Given the description of an element on the screen output the (x, y) to click on. 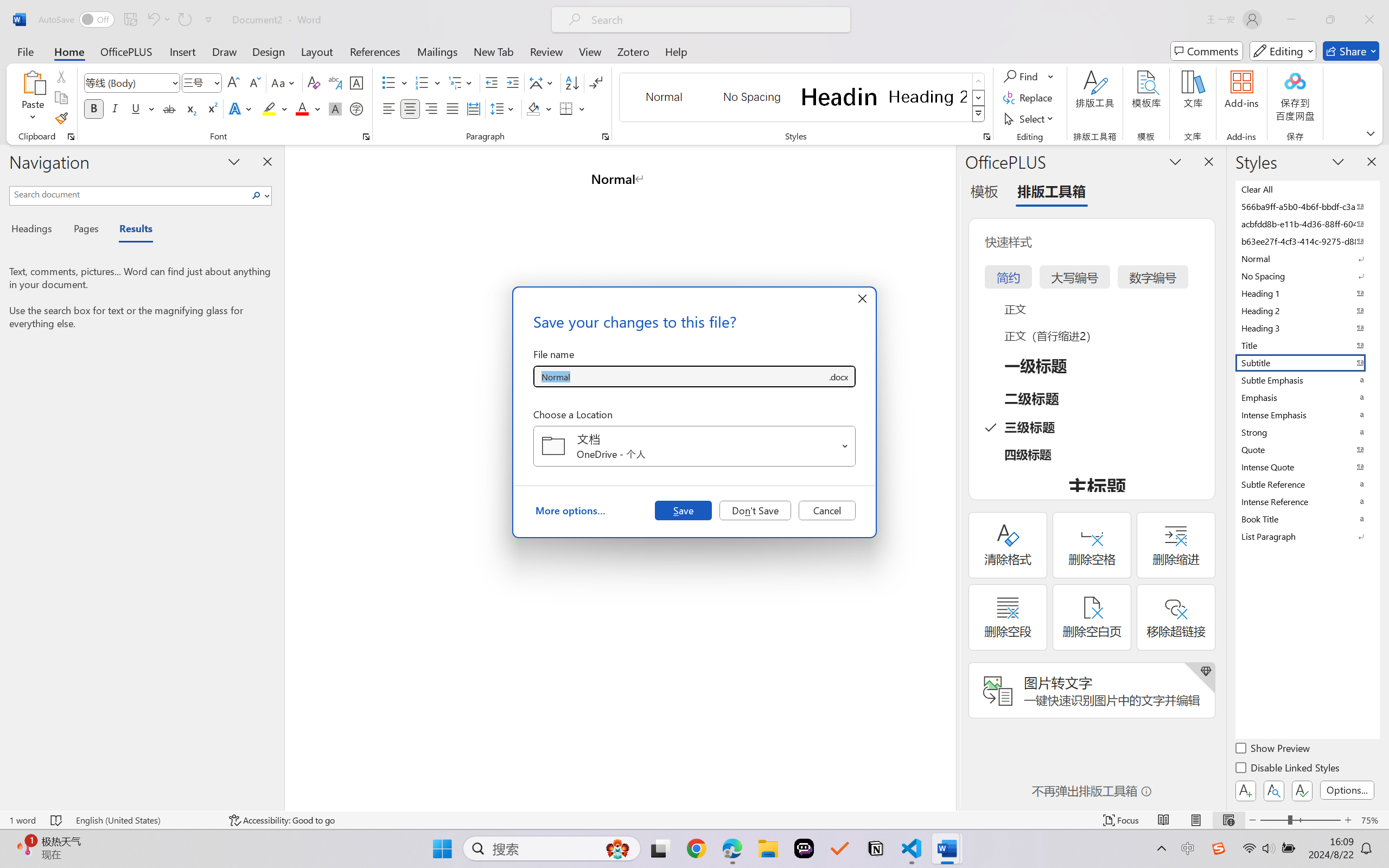
AutomationID: DynamicSearchBoxGleamImage (617, 848)
Office Clipboard... (70, 136)
Format Painter (60, 118)
Results (130, 229)
Don't Save (755, 509)
Strong (1306, 431)
Class: NetUIScrollBar (948, 477)
Shading (539, 108)
Read Mode (1163, 819)
Justify (452, 108)
